Given the description of an element on the screen output the (x, y) to click on. 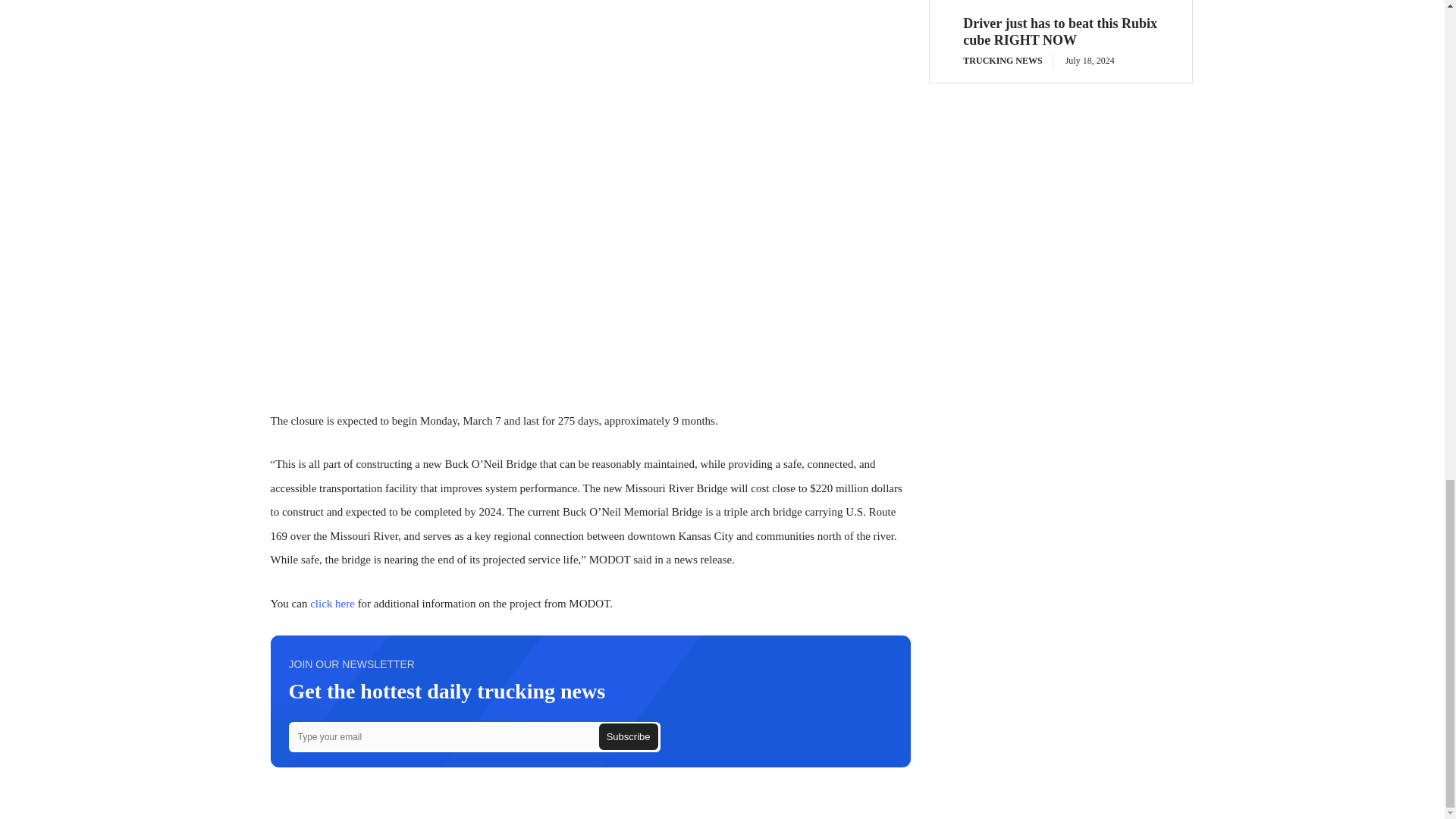
Subscribe (628, 736)
Subscribe (628, 736)
TRUCKING NEWS (1007, 60)
Driver just has to beat this Rubix cube RIGHT NOW (1059, 31)
click here (332, 603)
